Given the description of an element on the screen output the (x, y) to click on. 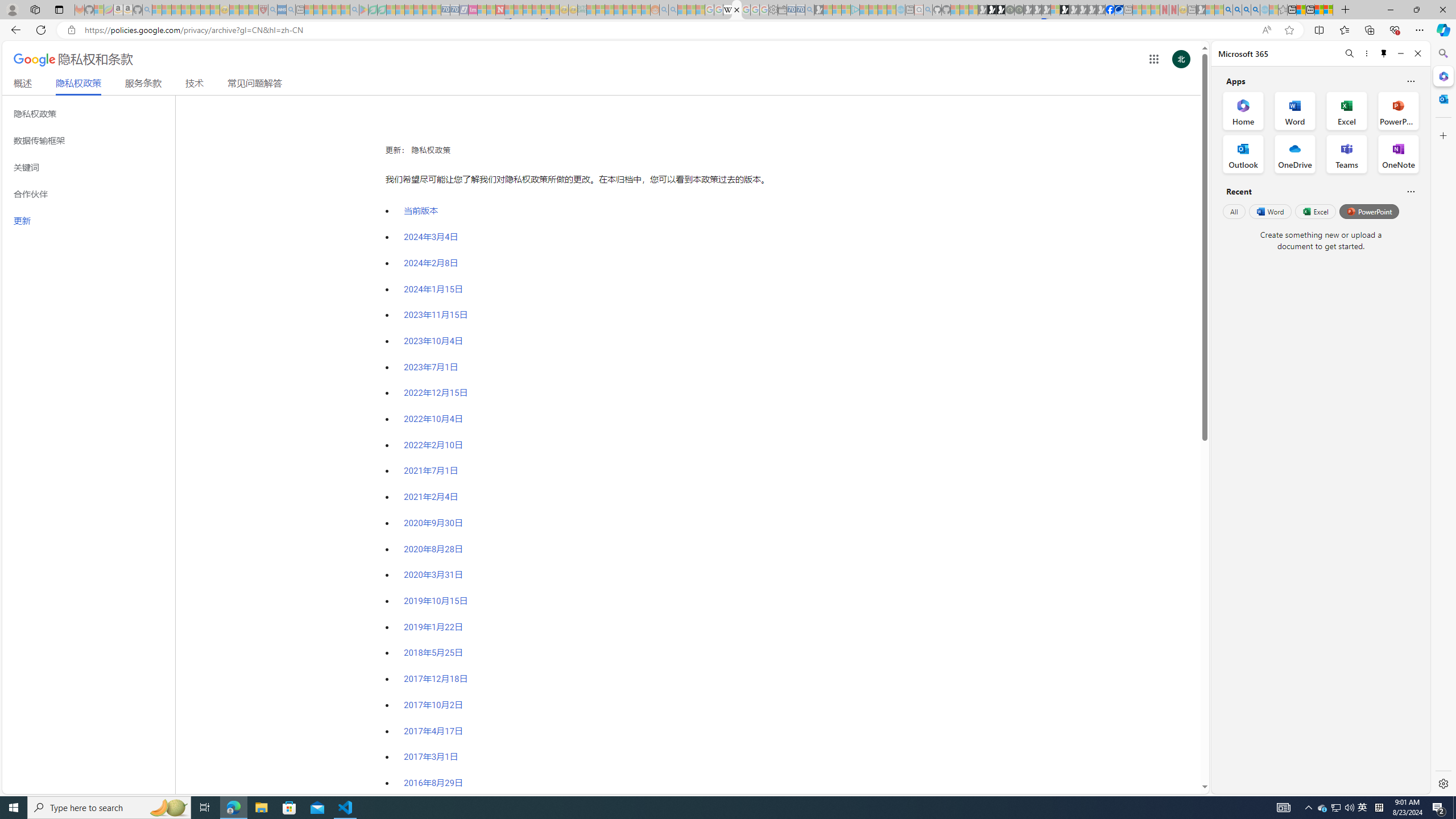
Home Office App (1243, 110)
Word (1269, 210)
